Given the description of an element on the screen output the (x, y) to click on. 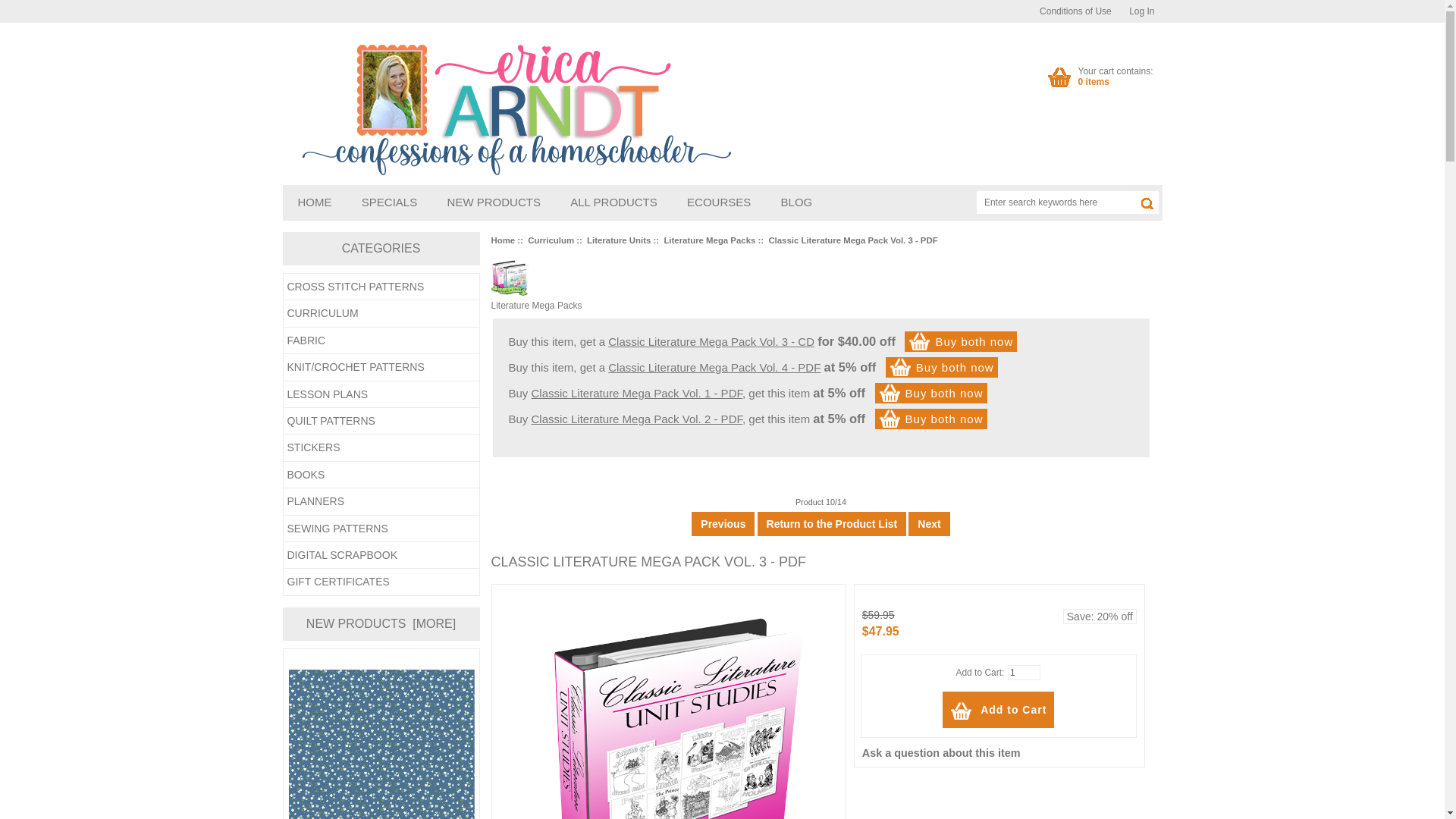
Bloom Tiny Blooms Denim Yardage (381, 744)
Search (1150, 201)
ECOURSES (718, 202)
Buy both now (941, 367)
BLOG (796, 202)
NEW PRODUCTS (494, 202)
Conditions of Use (1075, 10)
Buy both now (931, 393)
SPECIALS (389, 202)
Search (1150, 201)
1 (1024, 672)
Confessions of a Homeschooler Store (509, 108)
Add to Cart (1115, 76)
CROSS STITCH PATTERNS (998, 709)
